Given the description of an element on the screen output the (x, y) to click on. 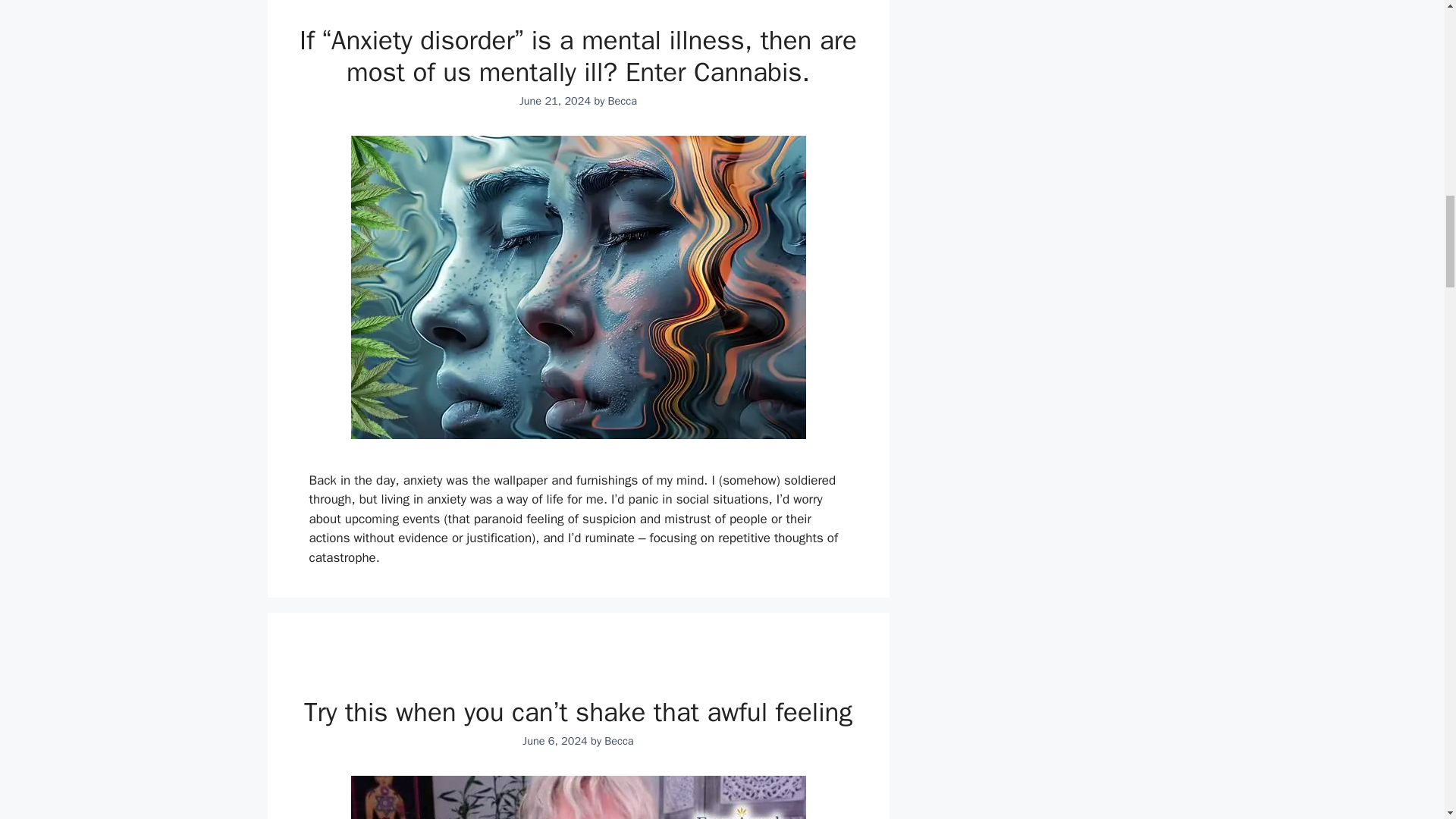
View all posts by Becca (622, 100)
Becca (622, 100)
Becca (618, 740)
View all posts by Becca (618, 740)
